Given the description of an element on the screen output the (x, y) to click on. 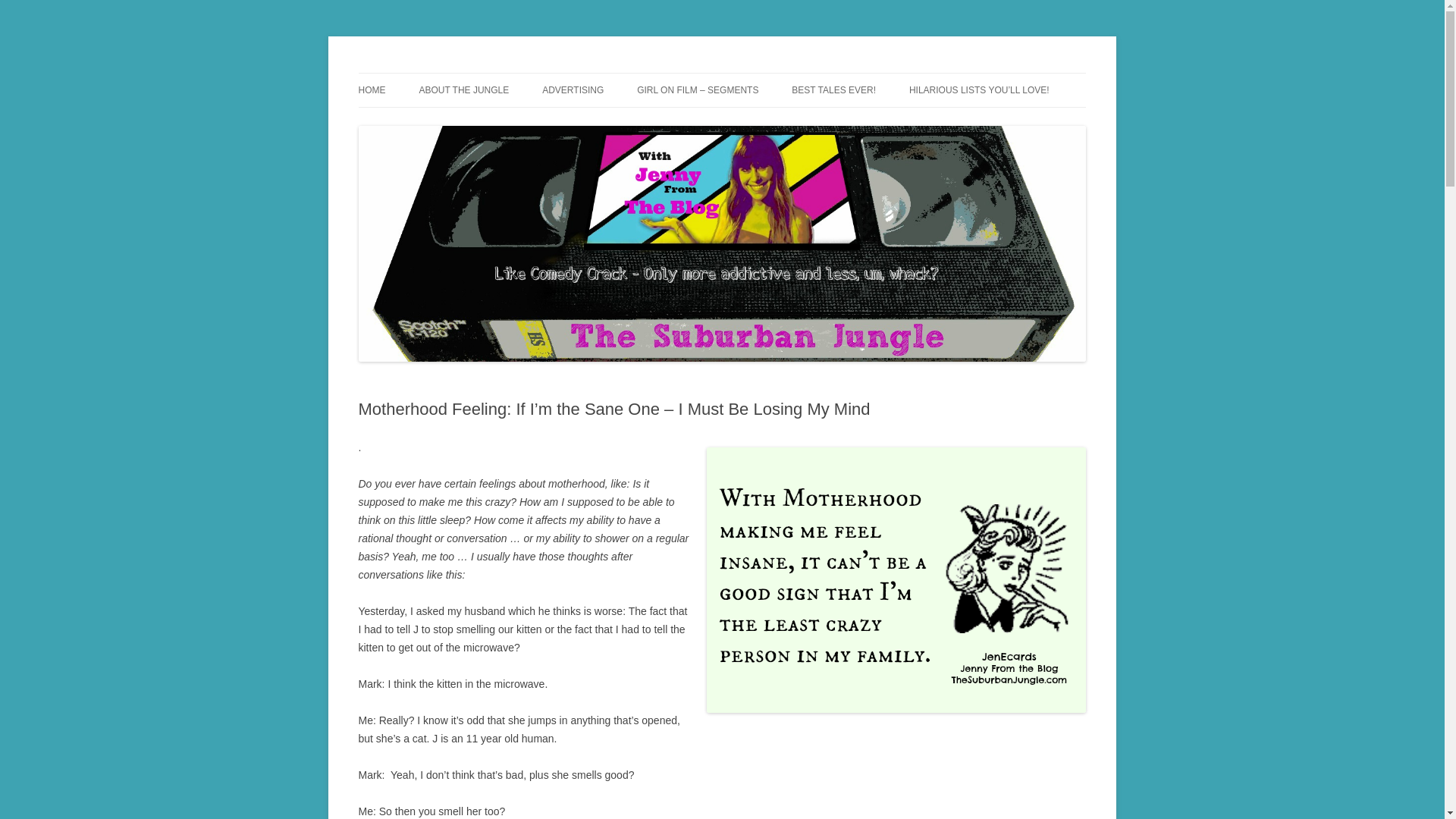
The Suburban Jungle (458, 72)
ABOUT THE JUNGLE (463, 90)
ADVERTISING (572, 90)
BEST TALES EVER! (834, 90)
